Given the description of an element on the screen output the (x, y) to click on. 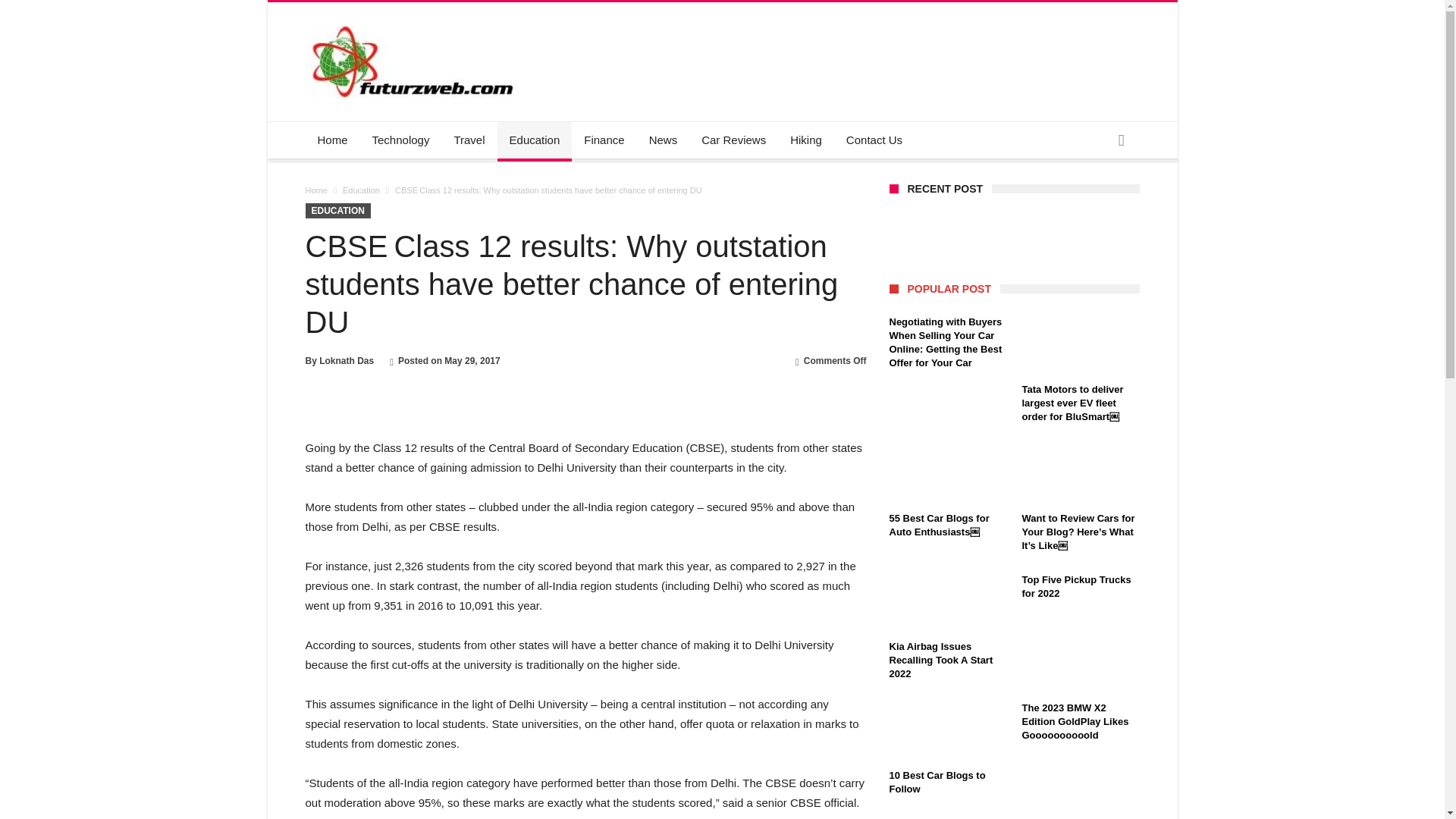
Education (534, 140)
News (663, 140)
Loknath Das (346, 360)
Education (361, 189)
Technology (400, 140)
Car Reviews (732, 140)
Contact Us (874, 140)
EDUCATION (336, 210)
Travel (468, 140)
Hiking (805, 140)
Futurzweb (414, 24)
Home (315, 189)
Home (331, 140)
Finance (604, 140)
